Given the description of an element on the screen output the (x, y) to click on. 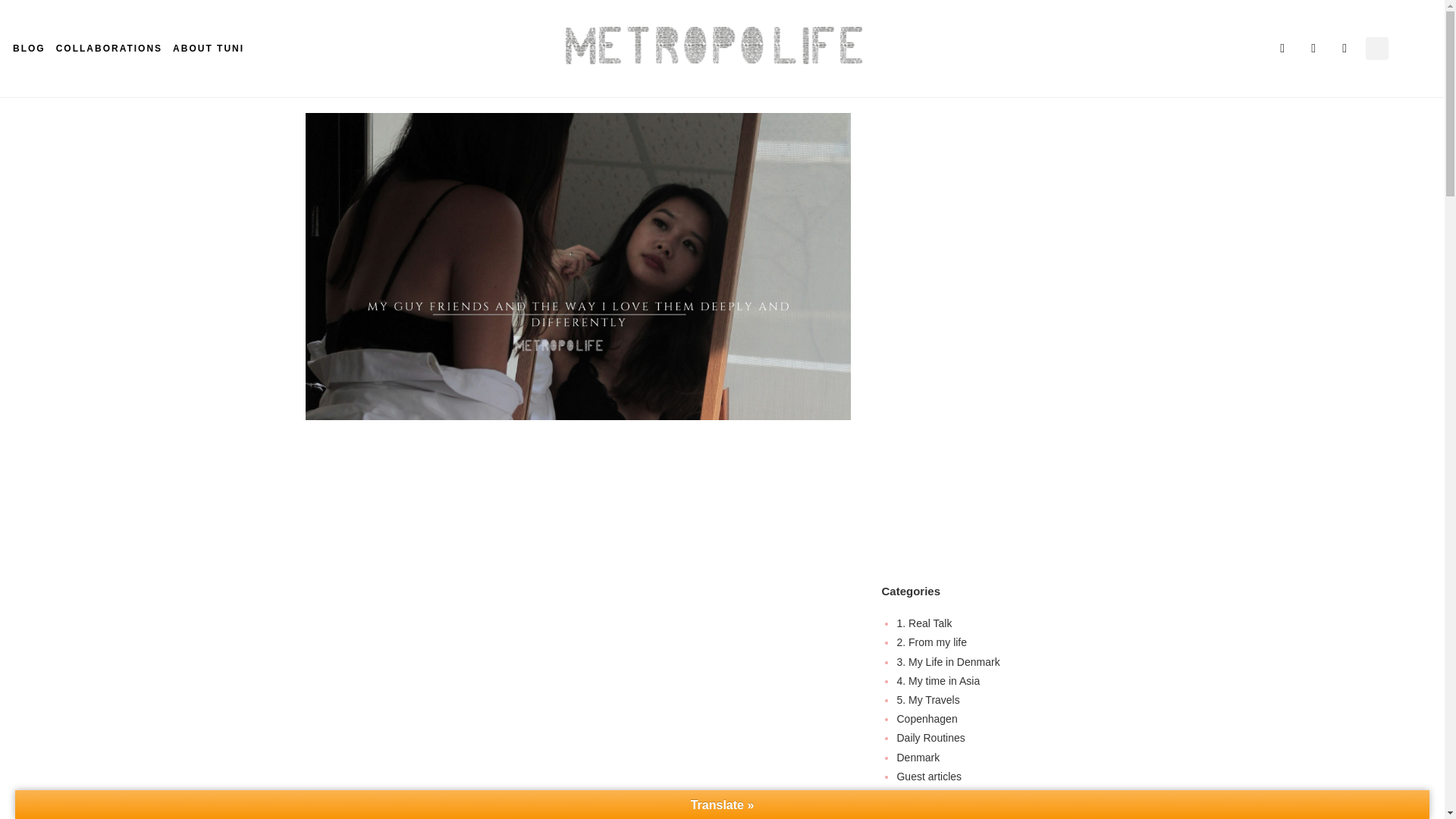
Guides about living in Denmark (969, 795)
Living abroad (927, 813)
COLLABORATIONS (108, 48)
Denmark (917, 757)
5. My Travels (927, 699)
4. My time in Asia (937, 680)
BLOG (28, 48)
3. My Life in Denmark (947, 662)
2. From my life (931, 642)
